Given the description of an element on the screen output the (x, y) to click on. 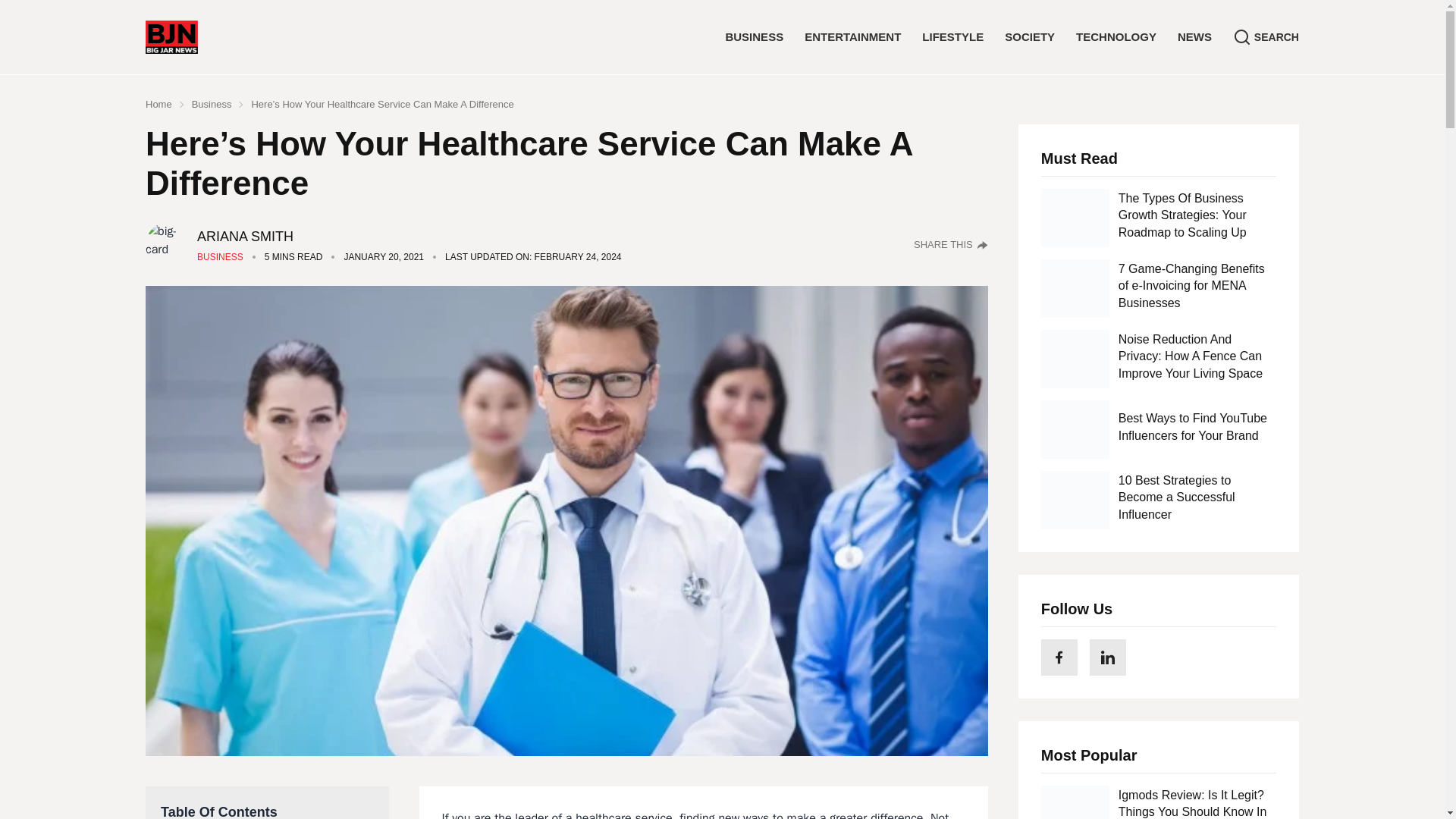
Business (211, 104)
SOCIETY (1029, 37)
Business (219, 256)
BUSINESS (754, 37)
TECHNOLOGY (1115, 37)
LIFESTYLE (952, 37)
NEWS (1194, 37)
SEARCH (1266, 36)
ENTERTAINMENT (853, 37)
